Given the description of an element on the screen output the (x, y) to click on. 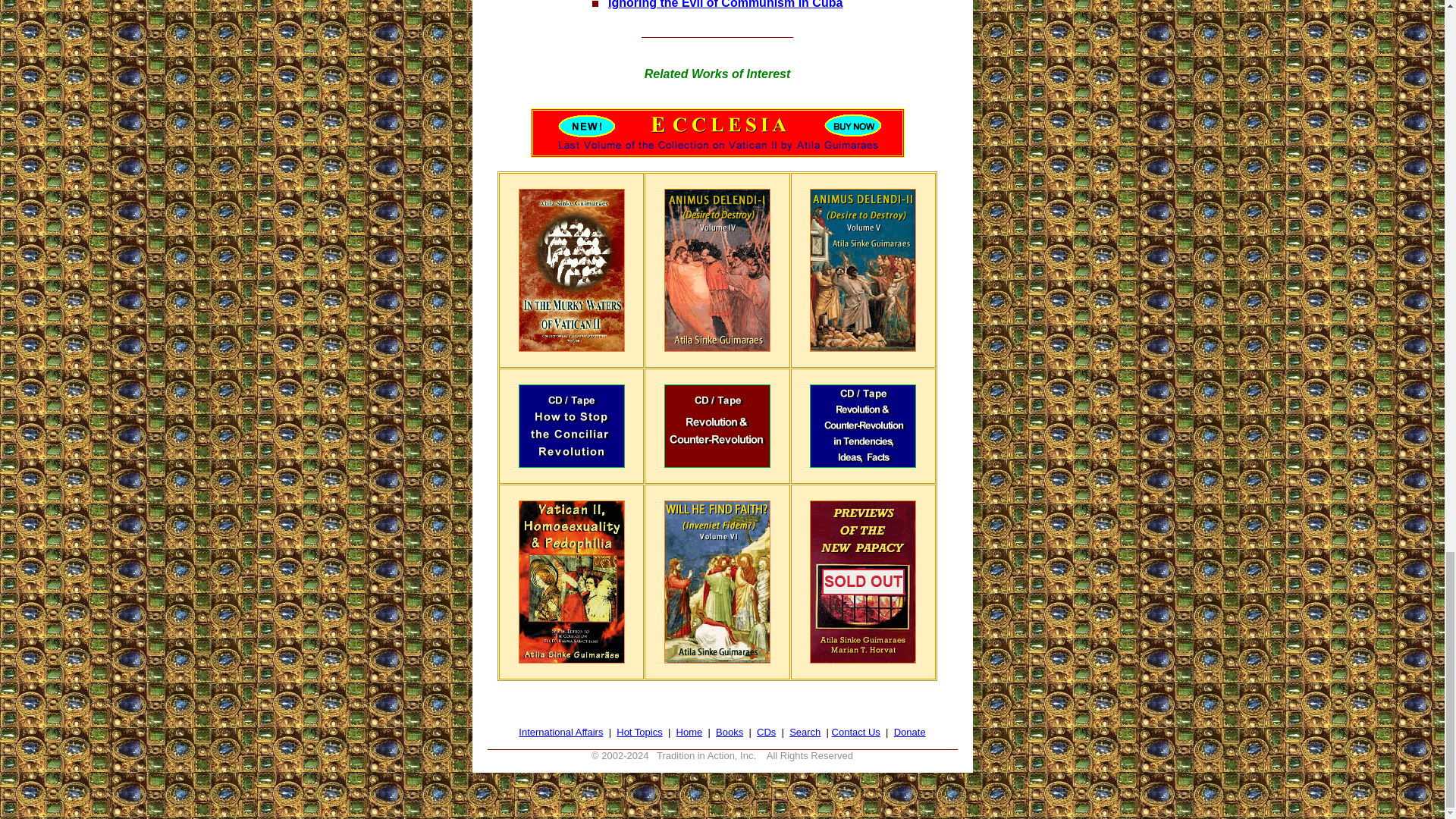
Ignoring the Evil of Communism in Cuba (725, 4)
